Given the description of an element on the screen output the (x, y) to click on. 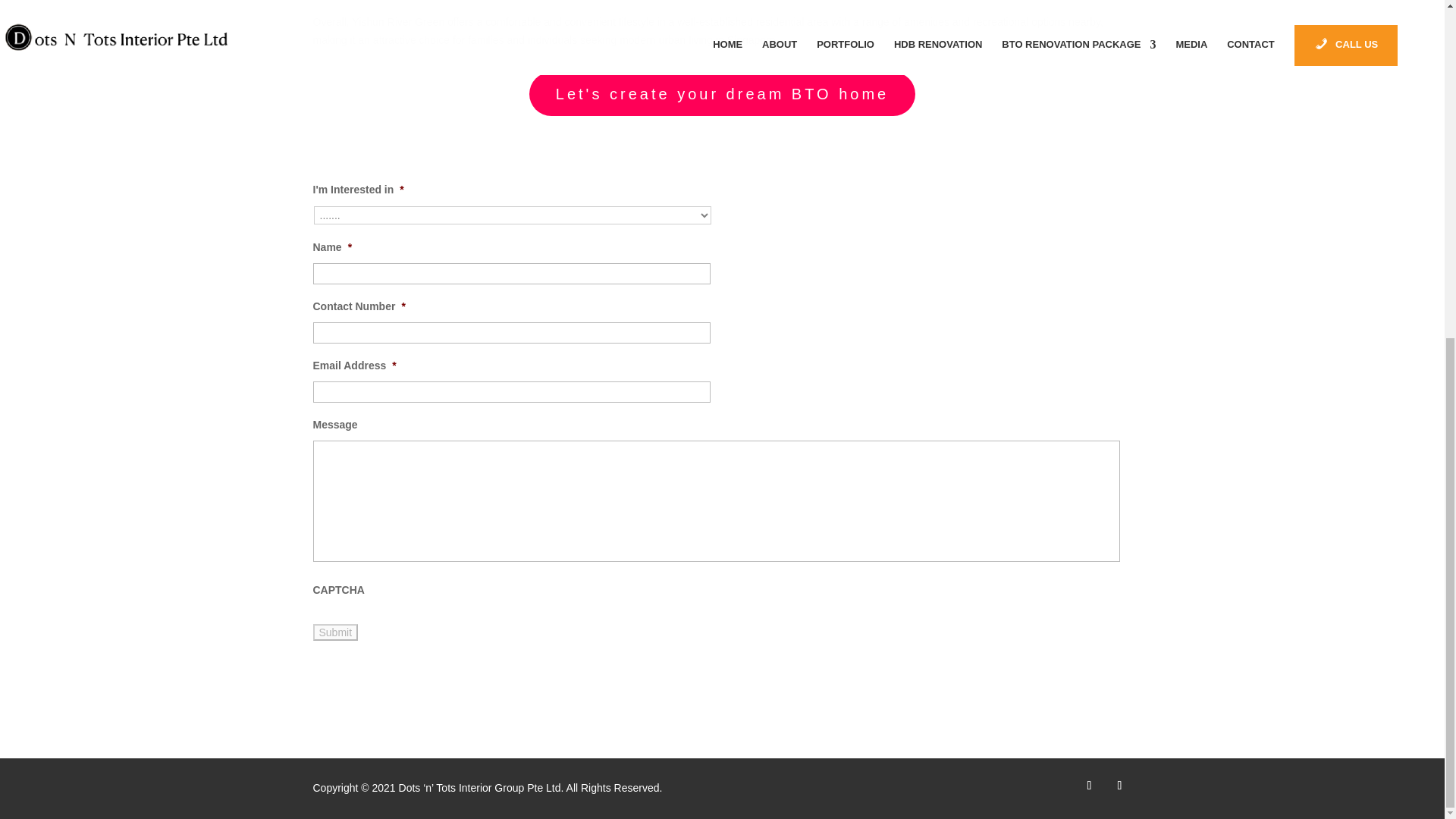
Submit (335, 632)
Follow on Instagram (1118, 785)
Submit (335, 632)
Follow on Facebook (1088, 785)
Let's create your dream BTO home (722, 94)
